Given the description of an element on the screen output the (x, y) to click on. 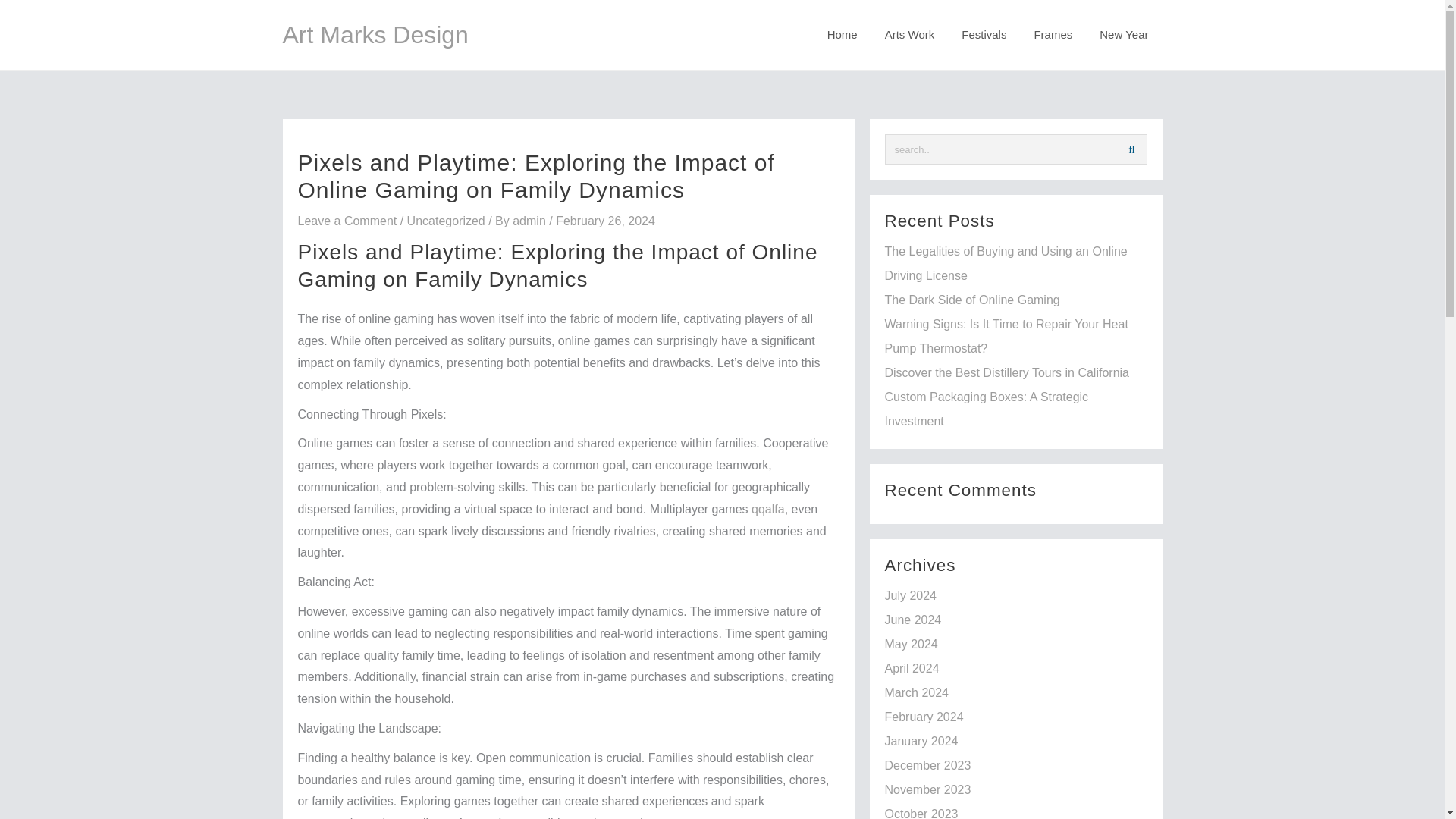
Festivals (983, 34)
December 2023 (927, 765)
admin (530, 220)
Arts Work (909, 34)
March 2024 (916, 692)
June 2024 (911, 619)
Uncategorized (445, 220)
October 2023 (920, 813)
Art Marks Design (374, 34)
Search (1131, 149)
November 2023 (927, 789)
The Legalities of Buying and Using an Online Driving License (1004, 262)
Custom Packaging Boxes: A Strategic Investment (985, 408)
April 2024 (911, 667)
Search (1131, 149)
